Given the description of an element on the screen output the (x, y) to click on. 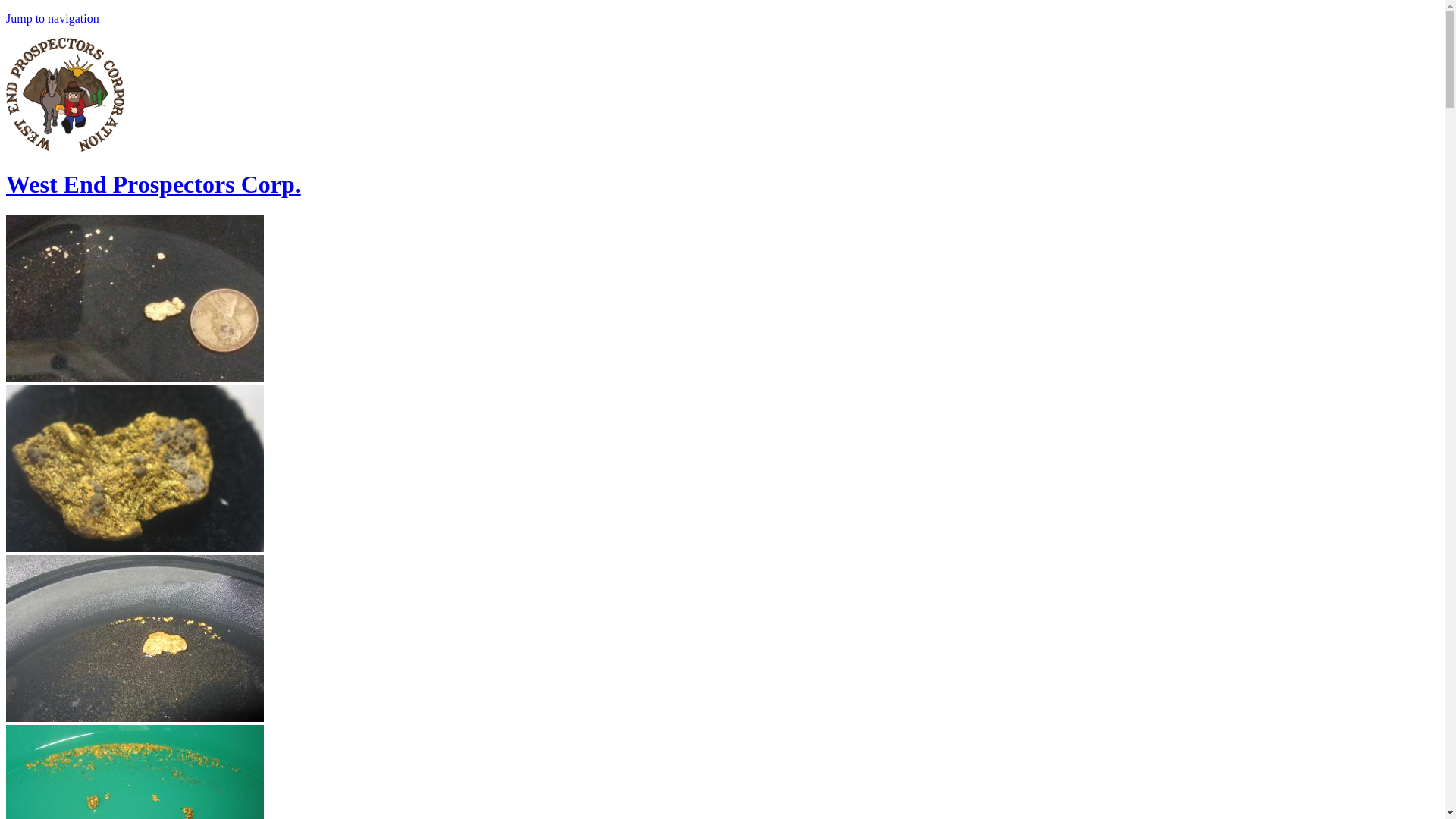
Home (64, 146)
Jump to navigation (52, 18)
West End Prospectors Corp. (153, 184)
close picture of gold nugget (134, 468)
coolgardie gold nugget (134, 638)
big bear gold (134, 771)
Home (153, 184)
